Given the description of an element on the screen output the (x, y) to click on. 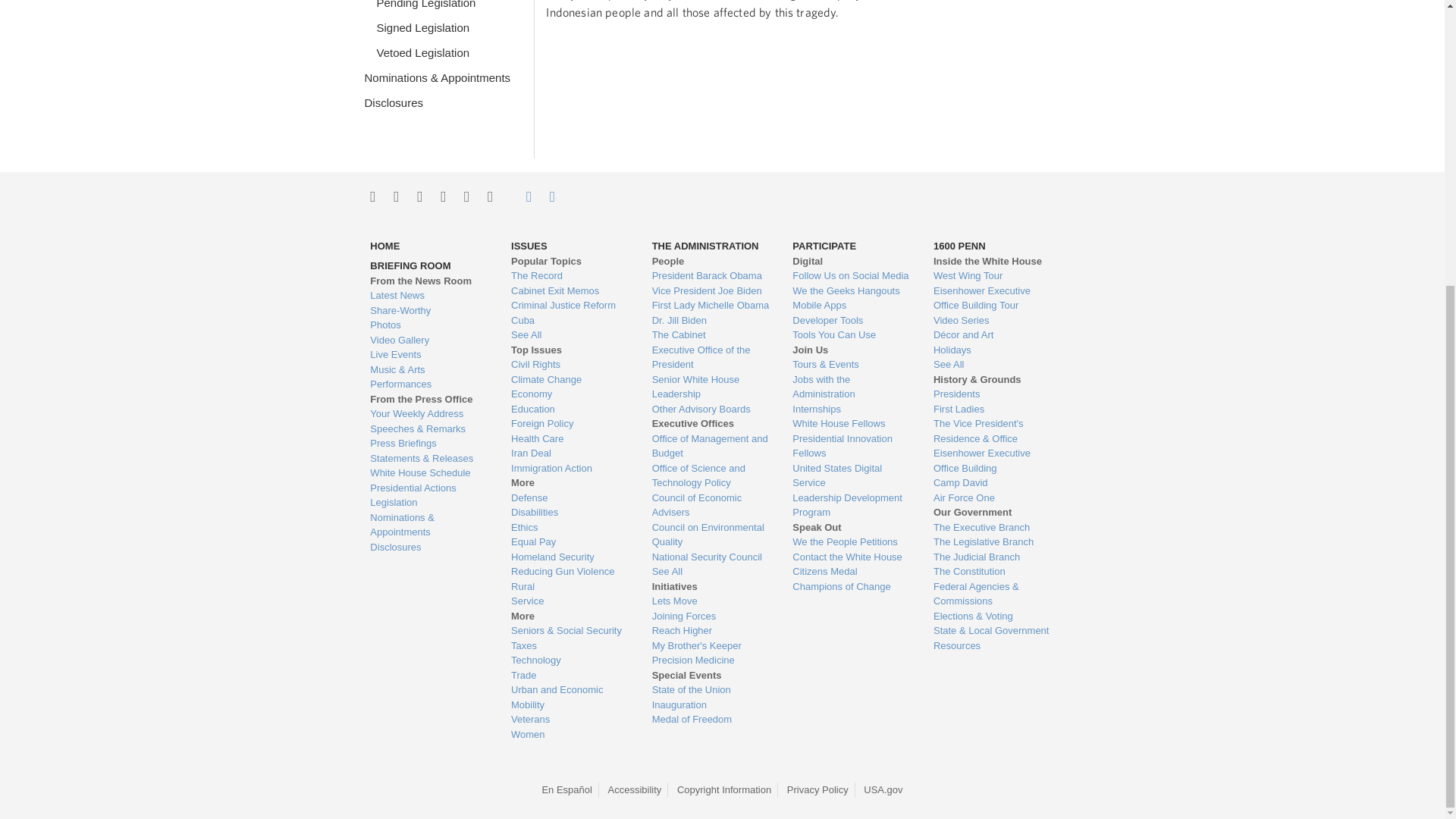
Check out the most popular infographics and videos (428, 310)
Read the latest blog posts from 1600 Pennsylvania Ave (428, 295)
View the photo of the day and other galleries (428, 324)
Watch behind-the-scenes videos and more (428, 340)
Contact the Whitehouse. (521, 196)
